Given the description of an element on the screen output the (x, y) to click on. 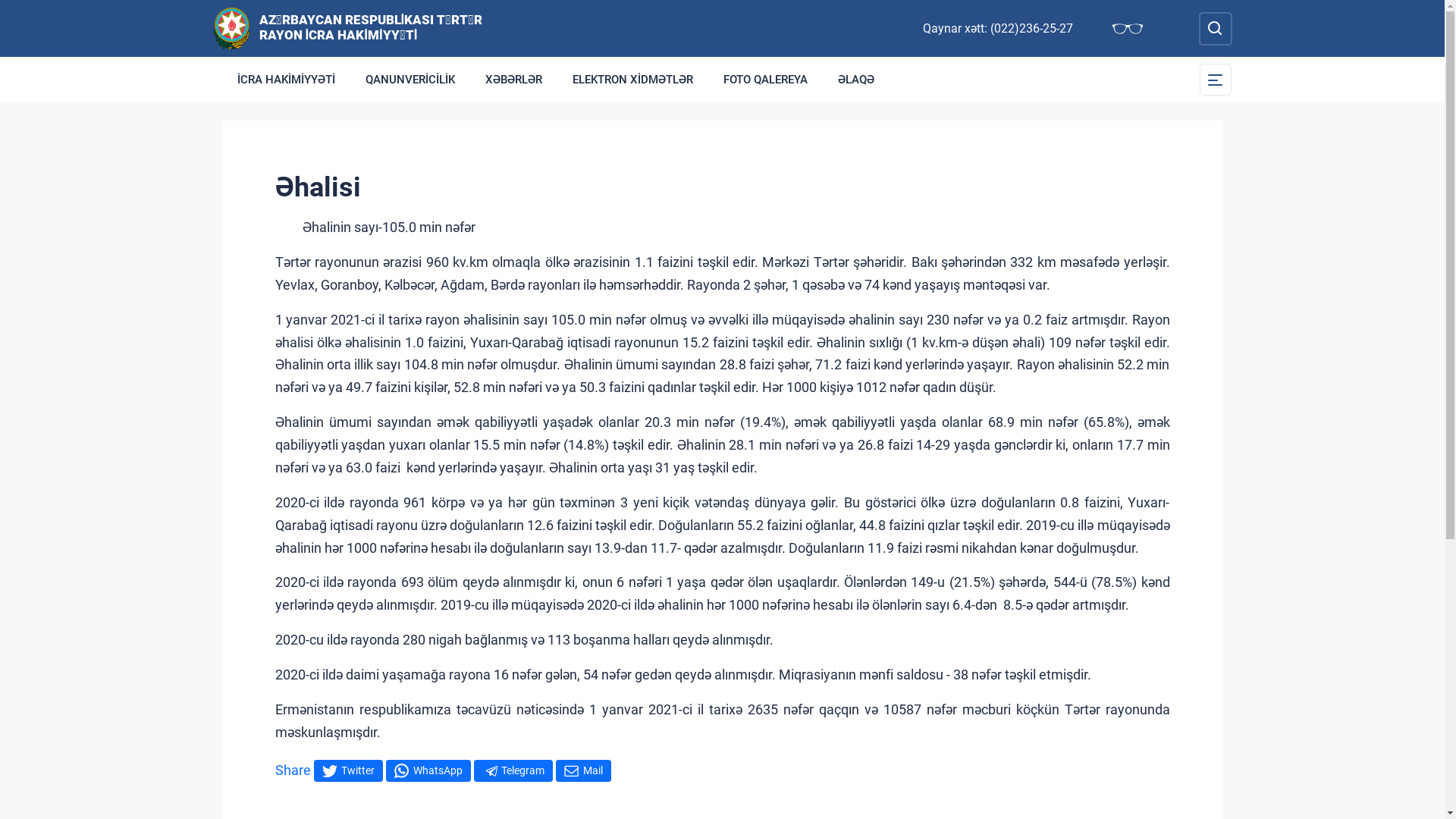
Telegram Element type: text (512, 770)
Share Element type: text (292, 770)
FOTO QALEREYA Element type: text (765, 79)
QANUNVERICILIK Element type: text (410, 79)
Mail Element type: text (582, 770)
WhatsApp Element type: text (427, 770)
Twitter Element type: text (347, 770)
